Given the description of an element on the screen output the (x, y) to click on. 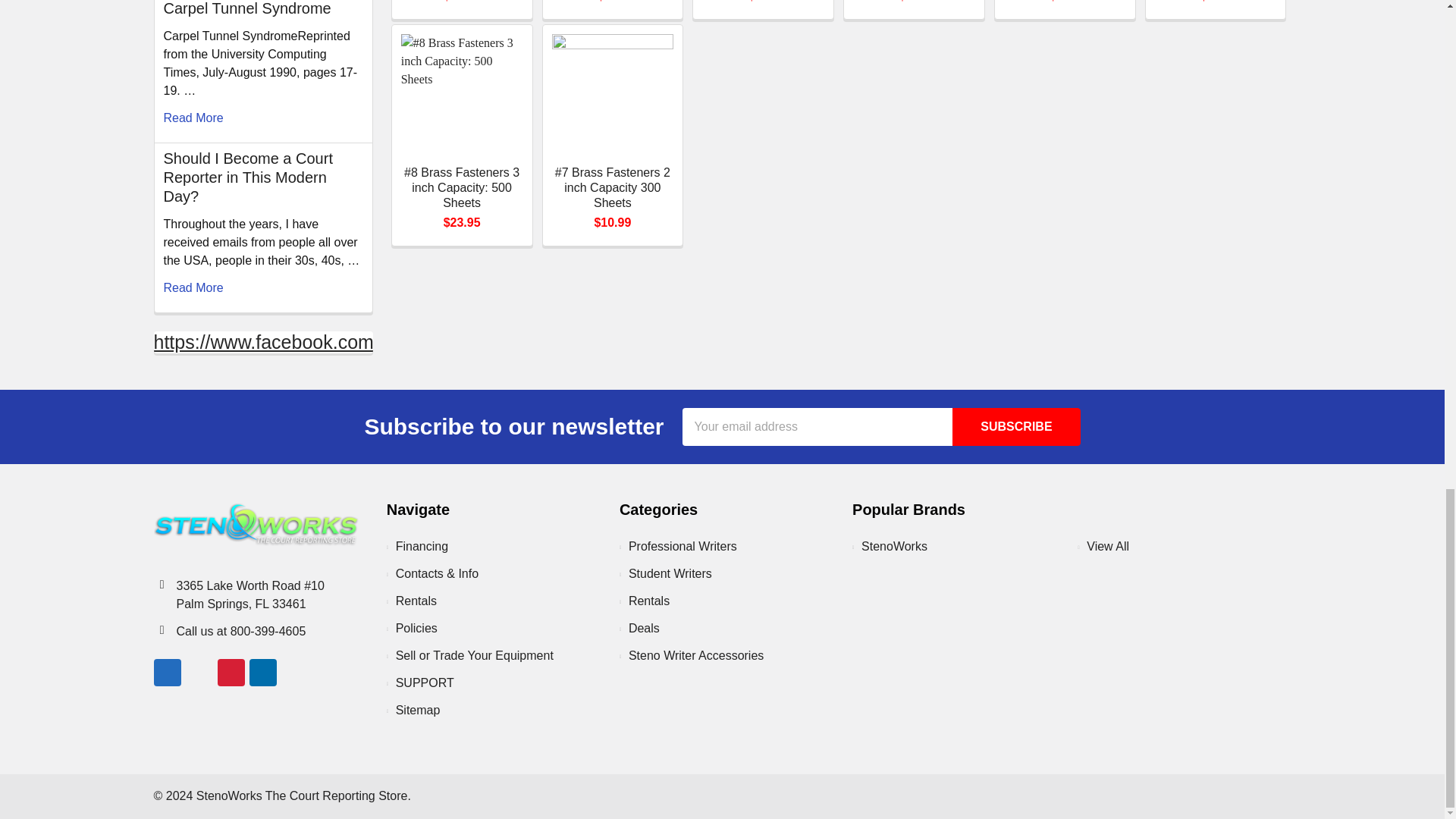
Subscribe (1016, 426)
